Given the description of an element on the screen output the (x, y) to click on. 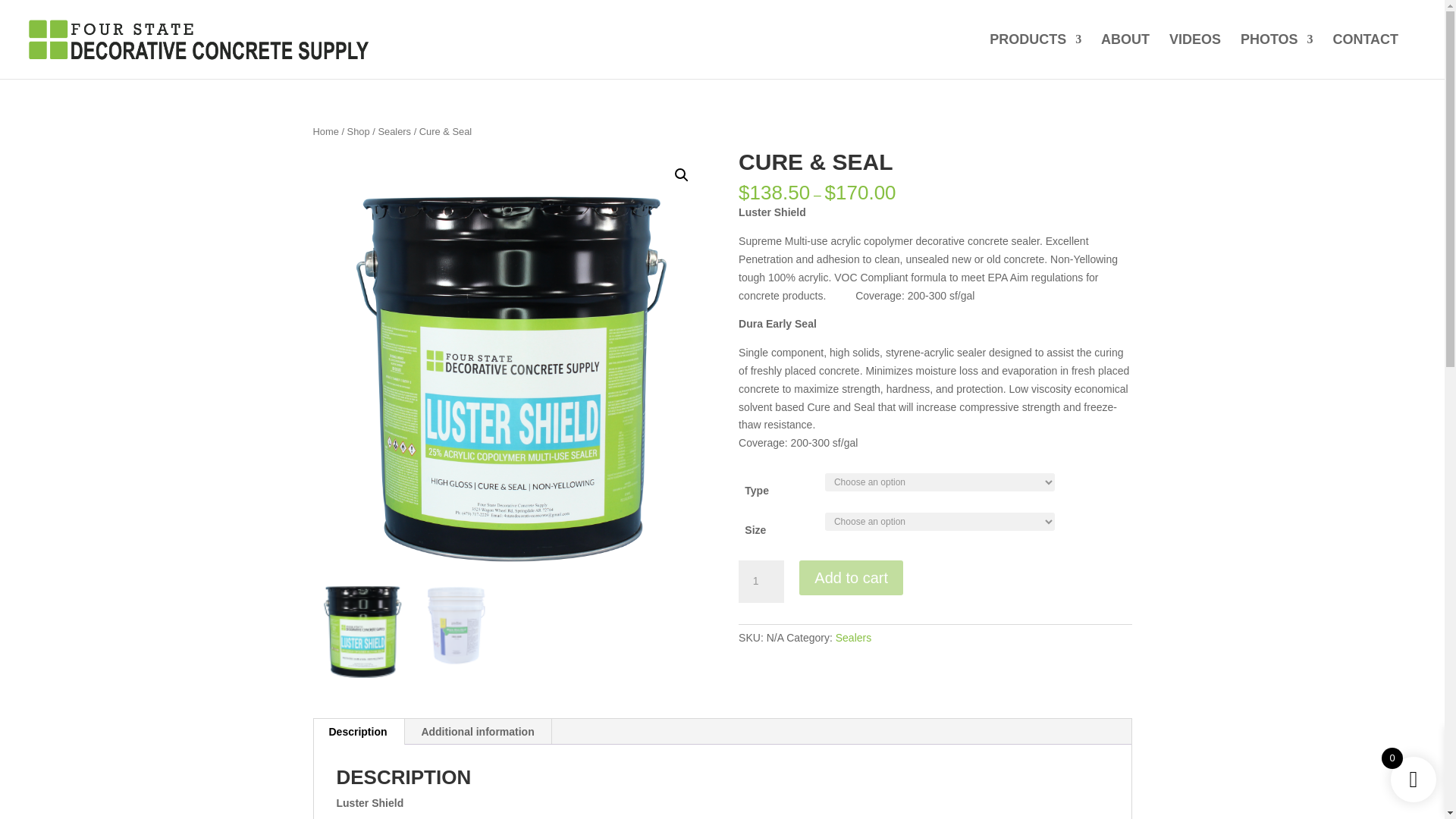
CONTACT (1364, 56)
VIDEOS (1195, 56)
PRODUCTS (1035, 56)
1 (761, 581)
PHOTOS (1276, 56)
ABOUT (1125, 56)
